Given the description of an element on the screen output the (x, y) to click on. 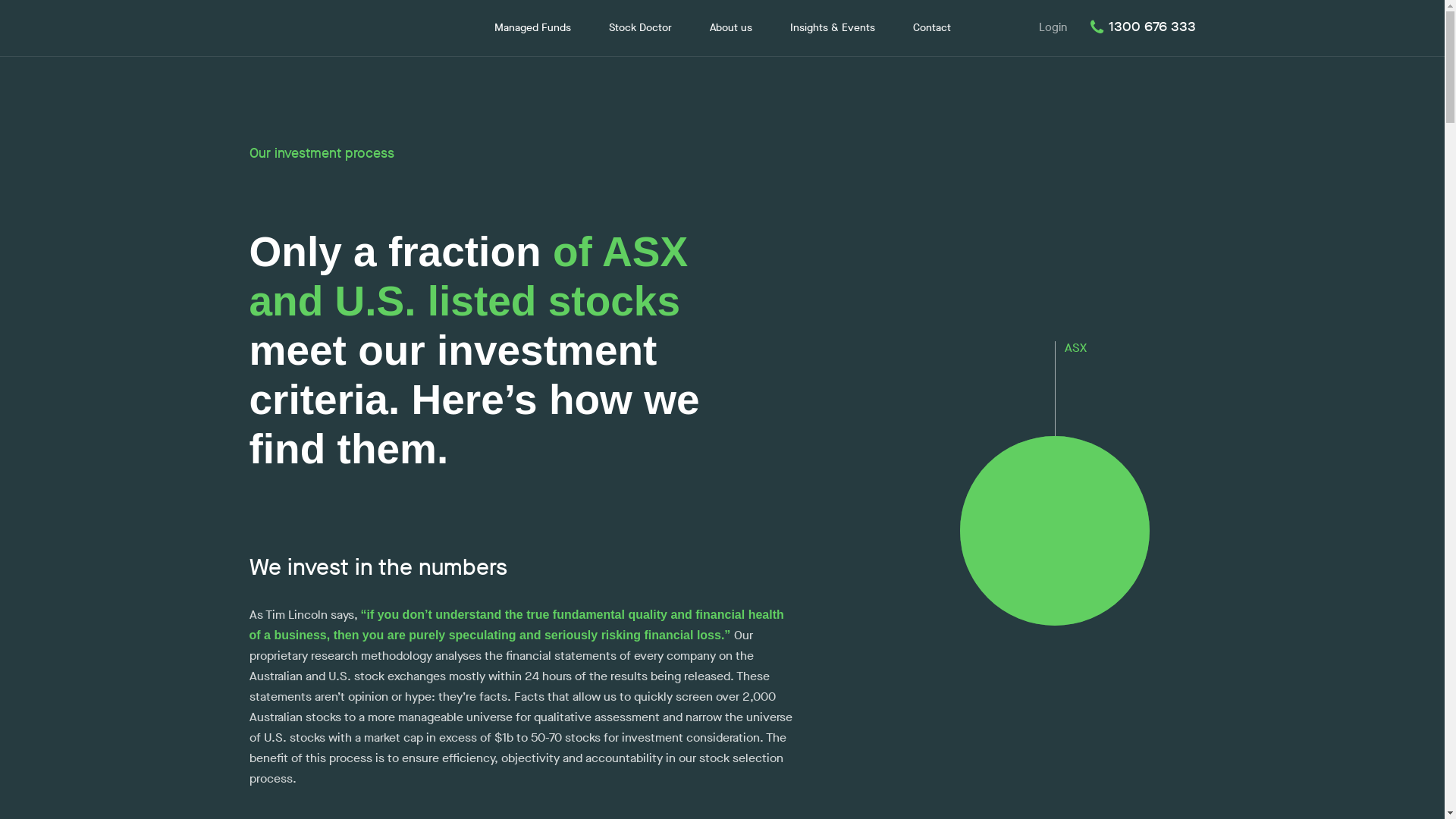
1300 676 333 Element type: text (1140, 27)
Login Element type: text (1052, 27)
Managed Funds Element type: text (532, 27)
About us Element type: text (730, 27)
Lincoln Indicators Element type: hover (334, 27)
Stock Doctor Element type: text (639, 27)
Contact Element type: text (931, 27)
Insights & Events Element type: text (832, 27)
